Given the description of an element on the screen output the (x, y) to click on. 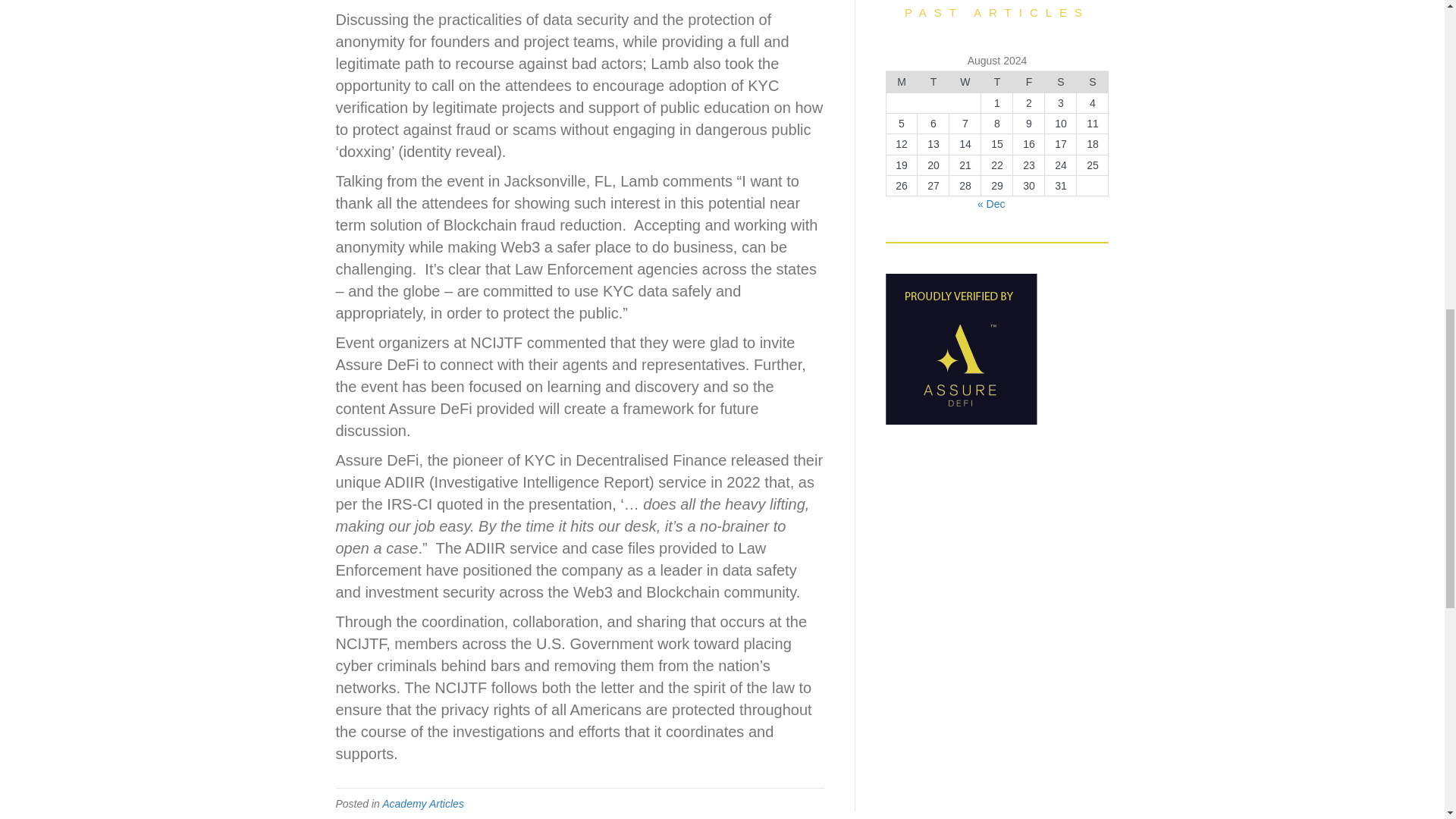
Tuesday (933, 82)
Monday (901, 82)
Friday (1029, 82)
Wednesday (965, 82)
Sunday (1092, 82)
Thursday (997, 82)
Saturday (1061, 82)
